Given the description of an element on the screen output the (x, y) to click on. 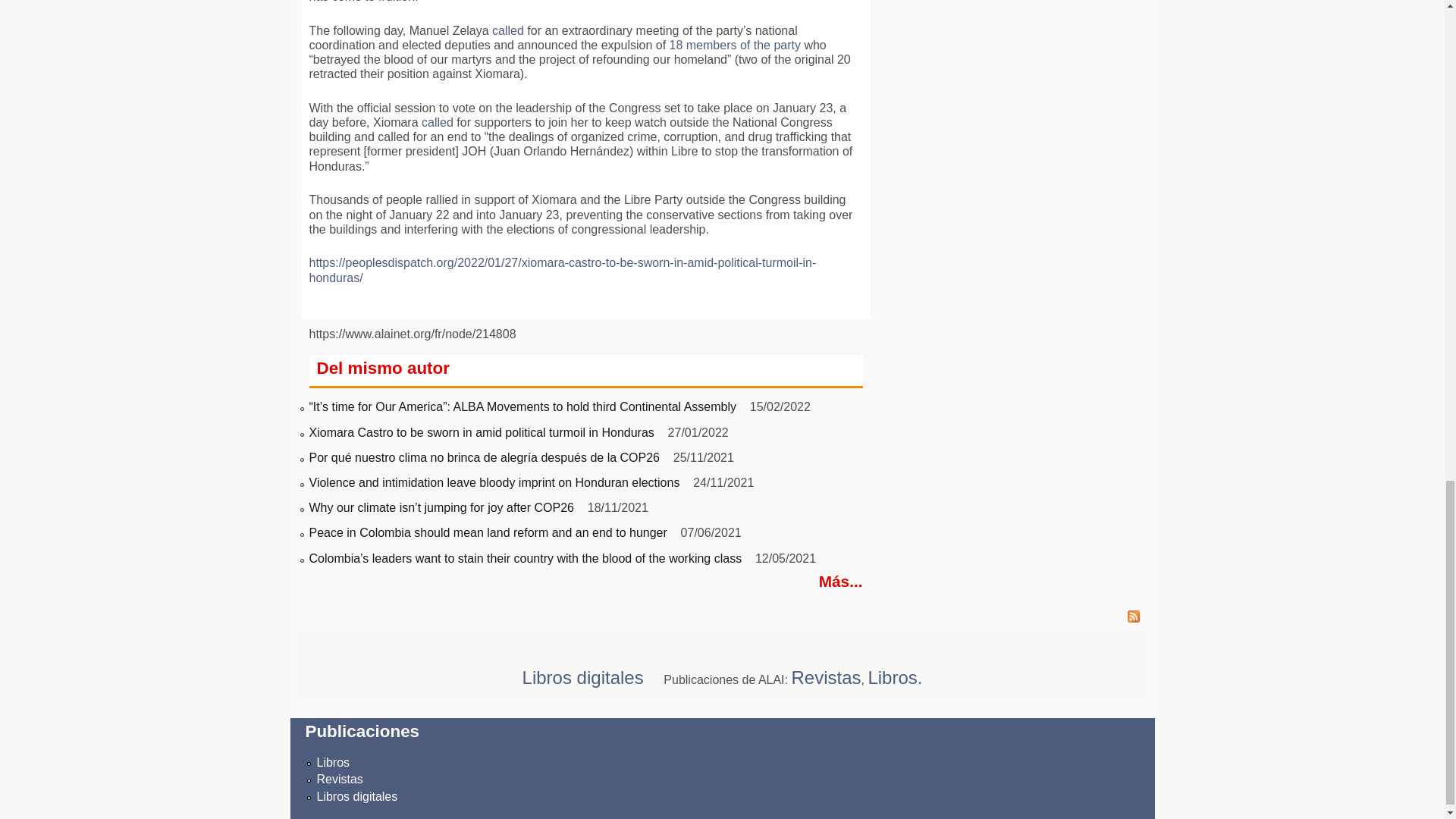
Revistas (339, 779)
called (437, 122)
18 members of the party (734, 44)
called (508, 30)
Libros de ALAI (333, 762)
